Given the description of an element on the screen output the (x, y) to click on. 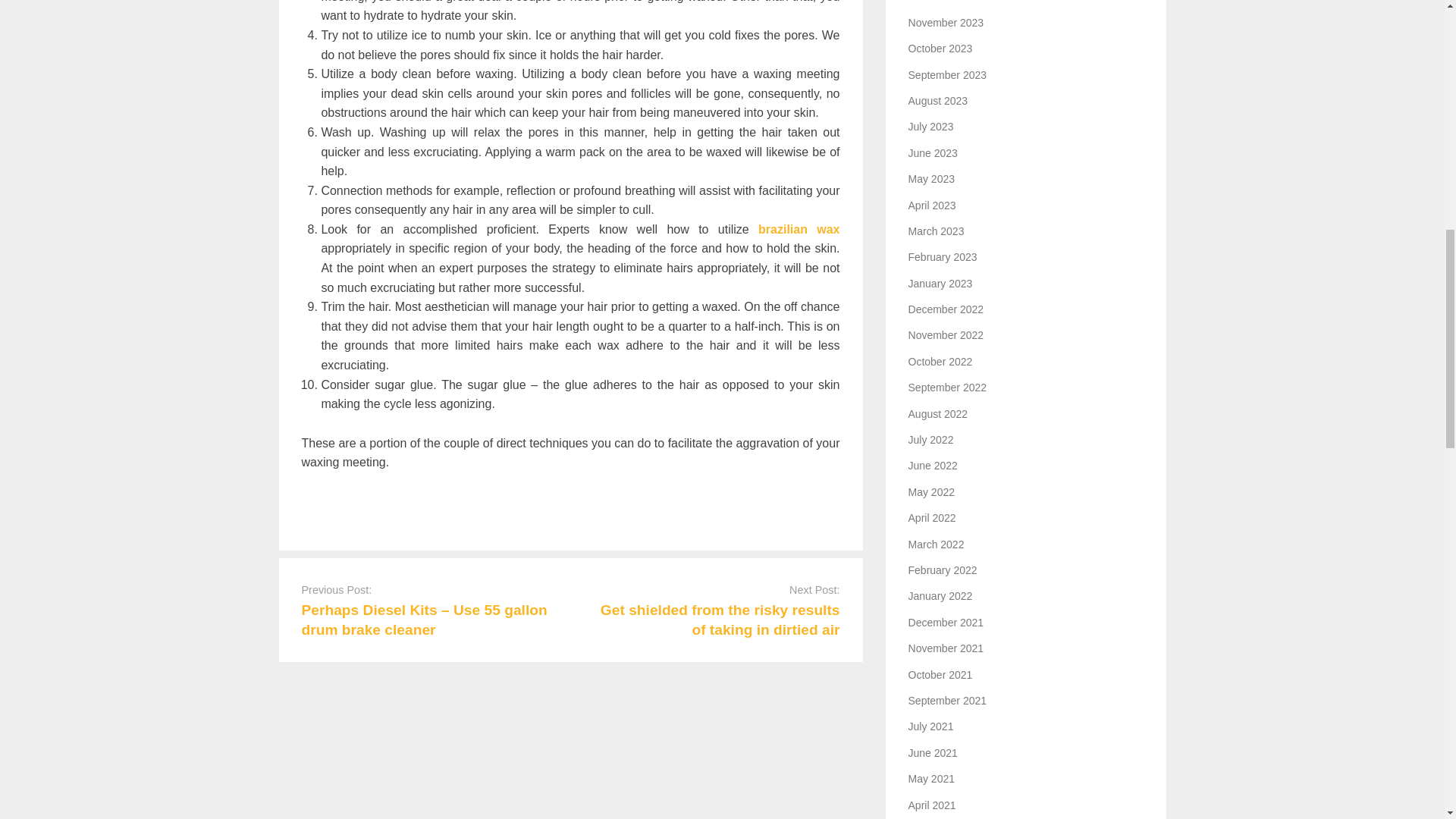
Get shielded from the risky results of taking in dirtied air (719, 619)
October 2022 (940, 361)
June 2023 (933, 152)
November 2023 (946, 22)
December 2022 (946, 309)
July 2023 (930, 126)
brazilian wax (799, 228)
March 2023 (935, 231)
December 2023 (946, 1)
February 2023 (942, 256)
August 2023 (938, 101)
January 2023 (940, 283)
November 2022 (946, 335)
October 2023 (940, 48)
May 2023 (931, 178)
